Given the description of an element on the screen output the (x, y) to click on. 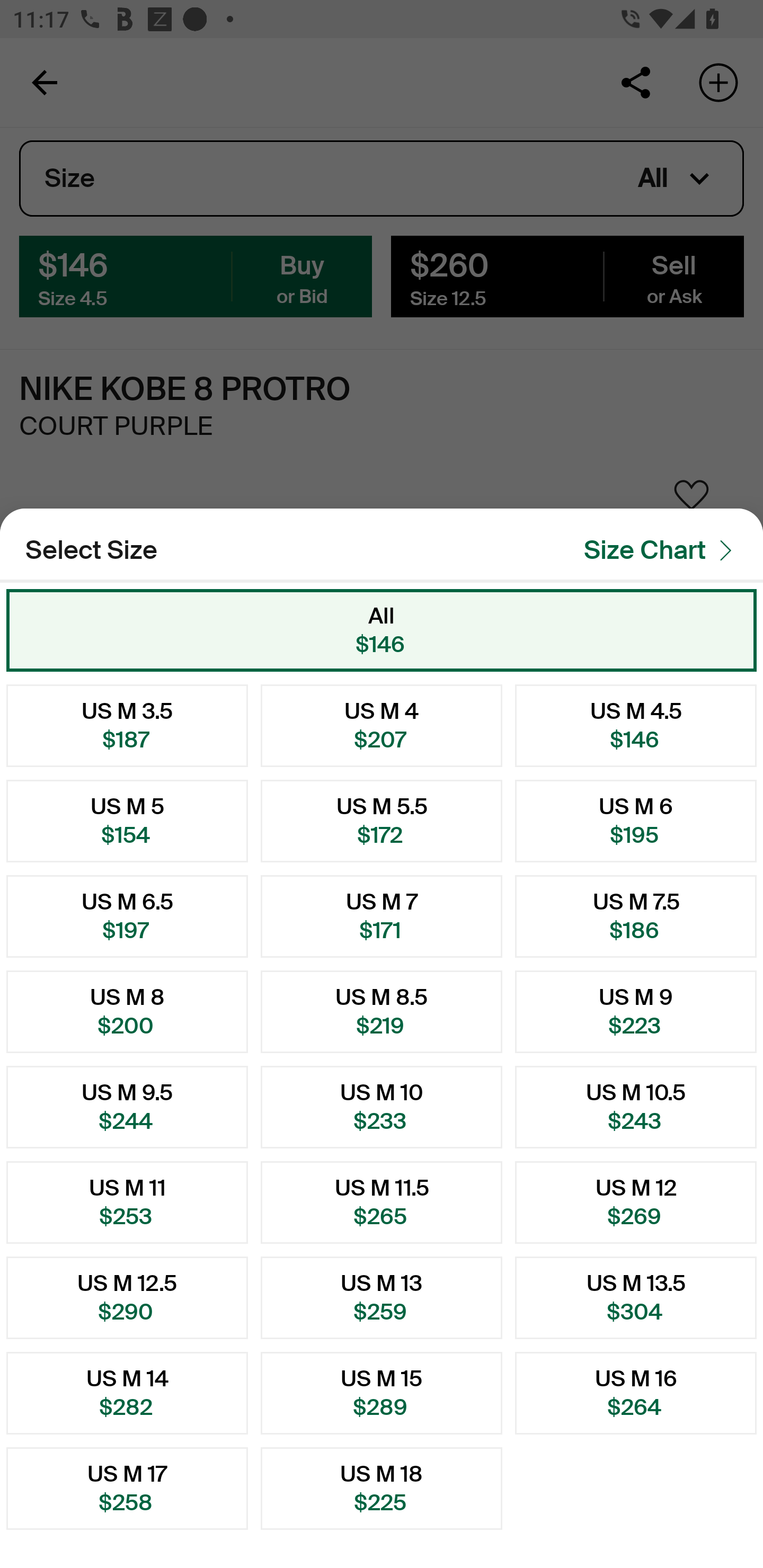
Size Chart (663, 550)
All $146 (381, 630)
US M 3.5 $187 (126, 724)
US M 4 $207 (381, 724)
US M 4.5 $146 (635, 724)
US M 5 $154 (126, 820)
US M 5.5 $172 (381, 820)
US M 6 $195 (635, 820)
US M 6.5 $197 (126, 916)
US M 7 $171 (381, 916)
US M 7.5 $186 (635, 916)
US M 8 $200 (126, 1011)
US M 8.5 $219 (381, 1011)
US M 9 $223 (635, 1011)
US M 9.5 $244 (126, 1106)
US M 10 $233 (381, 1106)
US M 10.5 $243 (635, 1106)
US M 11 $253 (126, 1202)
US M 11.5 $265 (381, 1202)
US M 12 $269 (635, 1202)
US M 12.5 $290 (126, 1297)
US M 13 $259 (381, 1297)
US M 13.5 $304 (635, 1297)
US M 14 $282 (126, 1392)
US M 15 $289 (381, 1392)
US M 16 $264 (635, 1392)
US M 17 $258 (126, 1488)
US M 18 $225 (381, 1488)
